Given the description of an element on the screen output the (x, y) to click on. 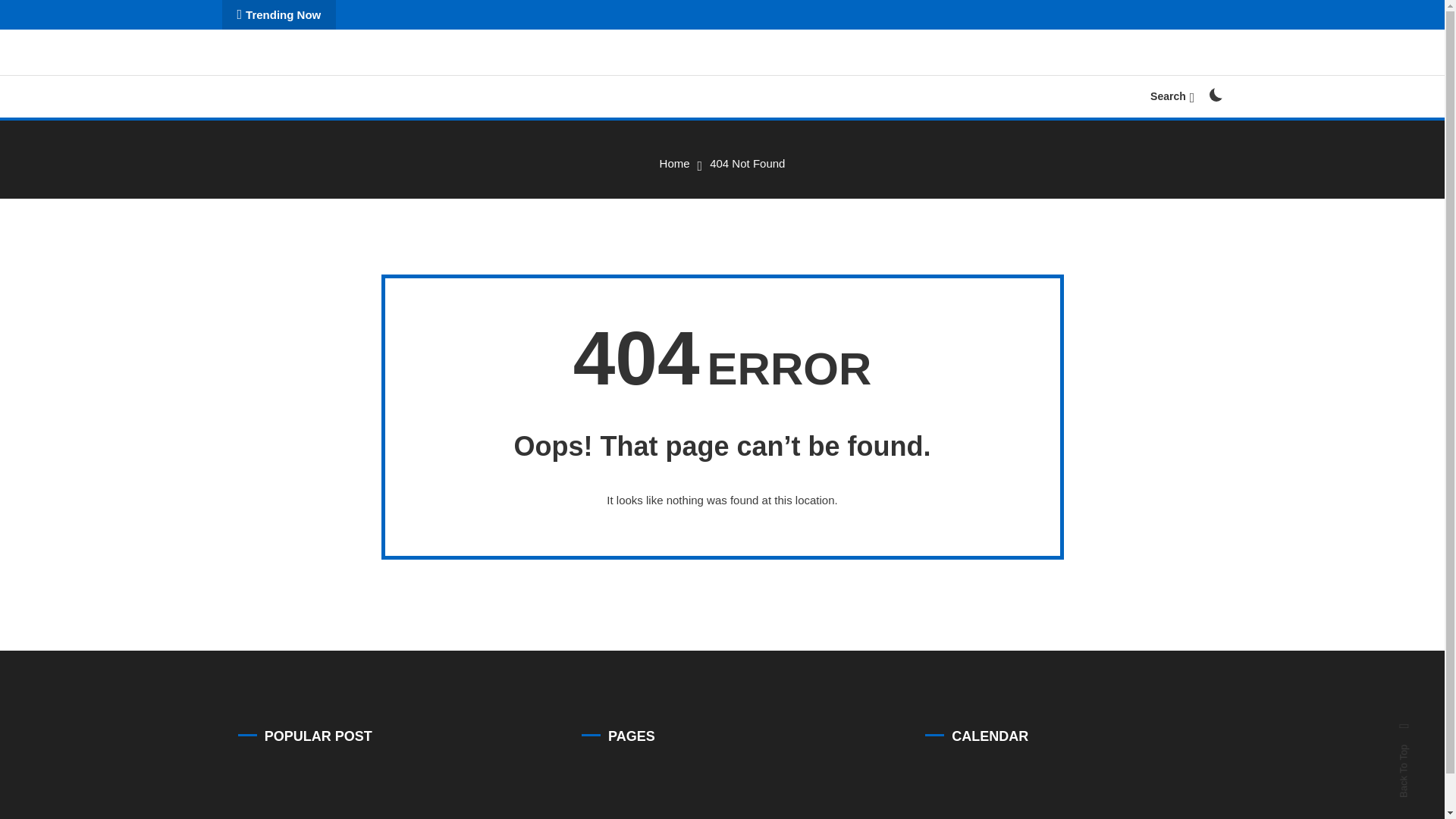
Home (674, 163)
Search (768, 434)
on (1215, 94)
Search (1171, 96)
Qatar Online News (342, 71)
